Given the description of an element on the screen output the (x, y) to click on. 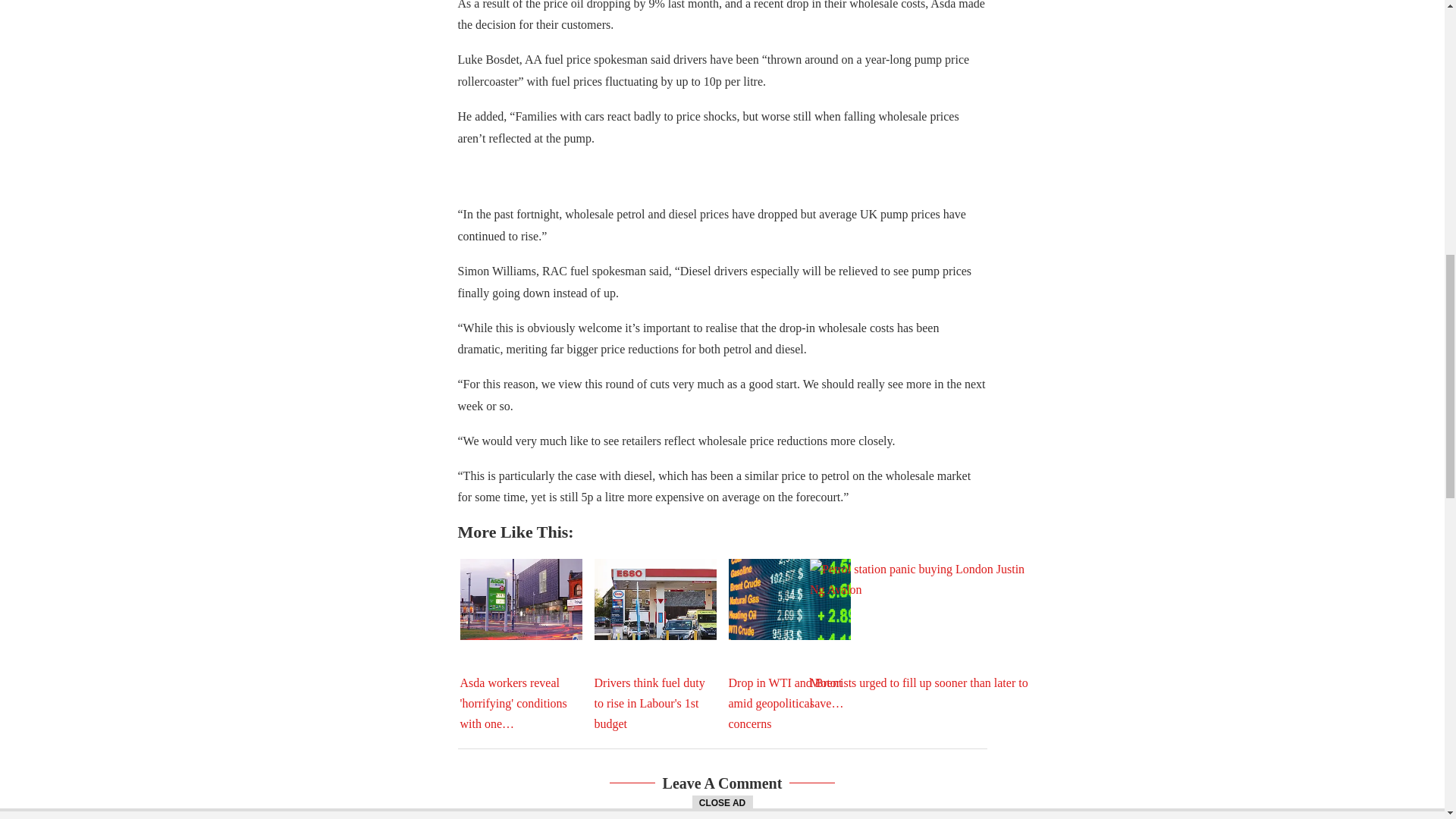
Drivers think fuel duty to rise in Labour's 1st budget (655, 598)
Drop in WTI and Brent amid geopolitical concerns (789, 598)
